Given the description of an element on the screen output the (x, y) to click on. 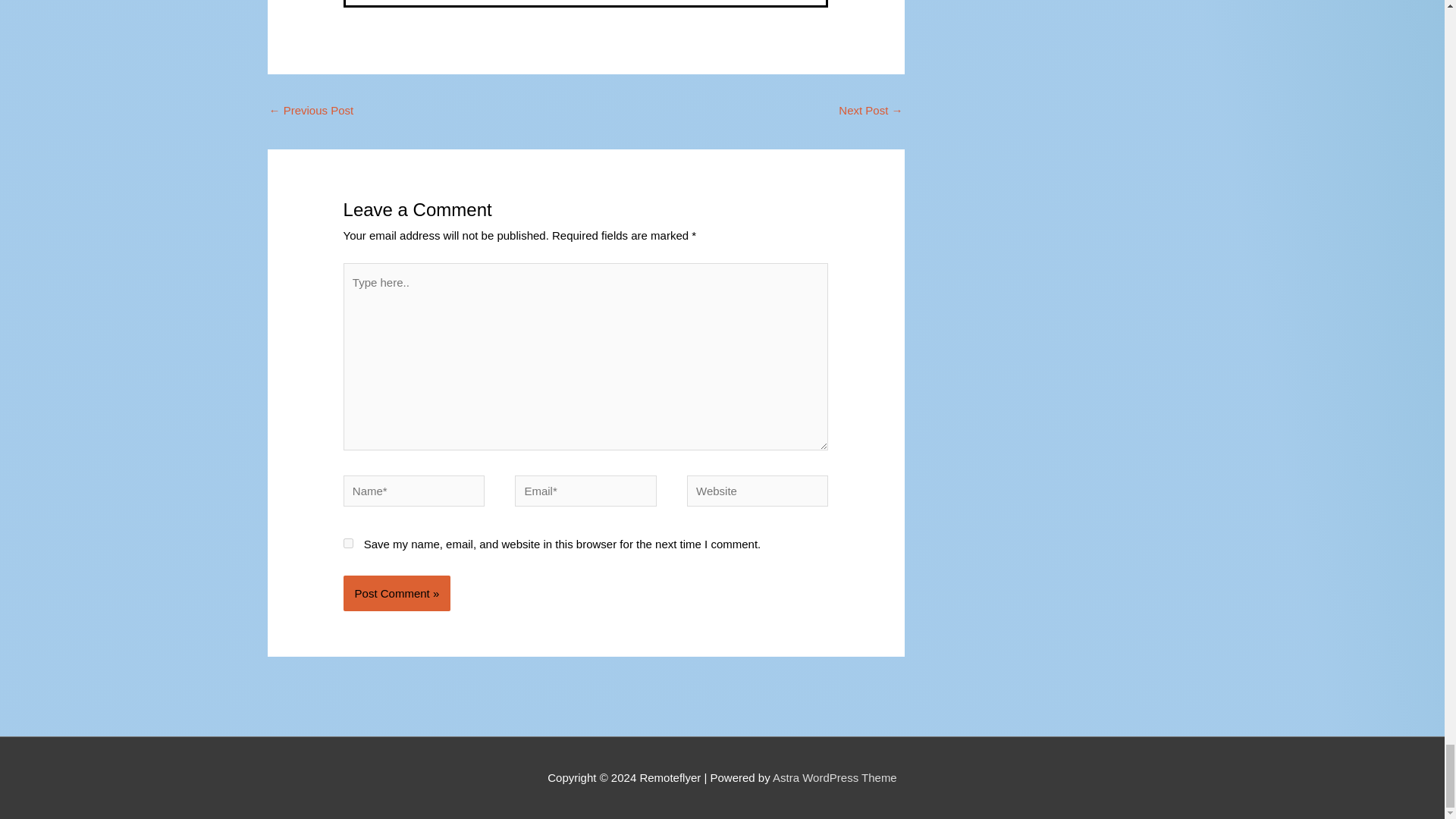
How Low Are Drones Allowed to Fly? (870, 111)
yes (348, 542)
Best Job Opportunities for Drone Pilots: 2022 (310, 111)
